Given the description of an element on the screen output the (x, y) to click on. 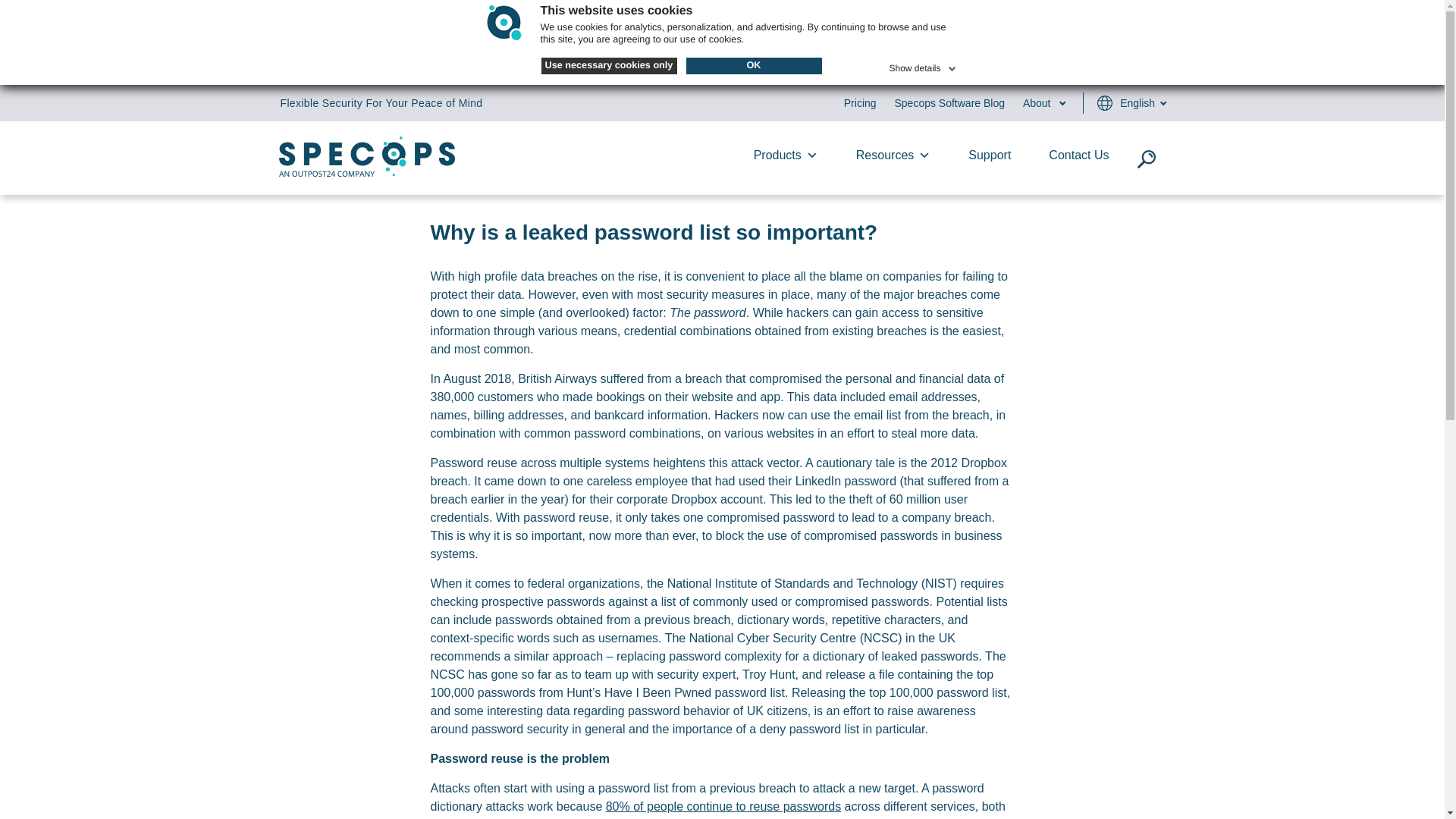
Show details (923, 65)
Use necessary cookies only (609, 65)
OK (753, 65)
